Given the description of an element on the screen output the (x, y) to click on. 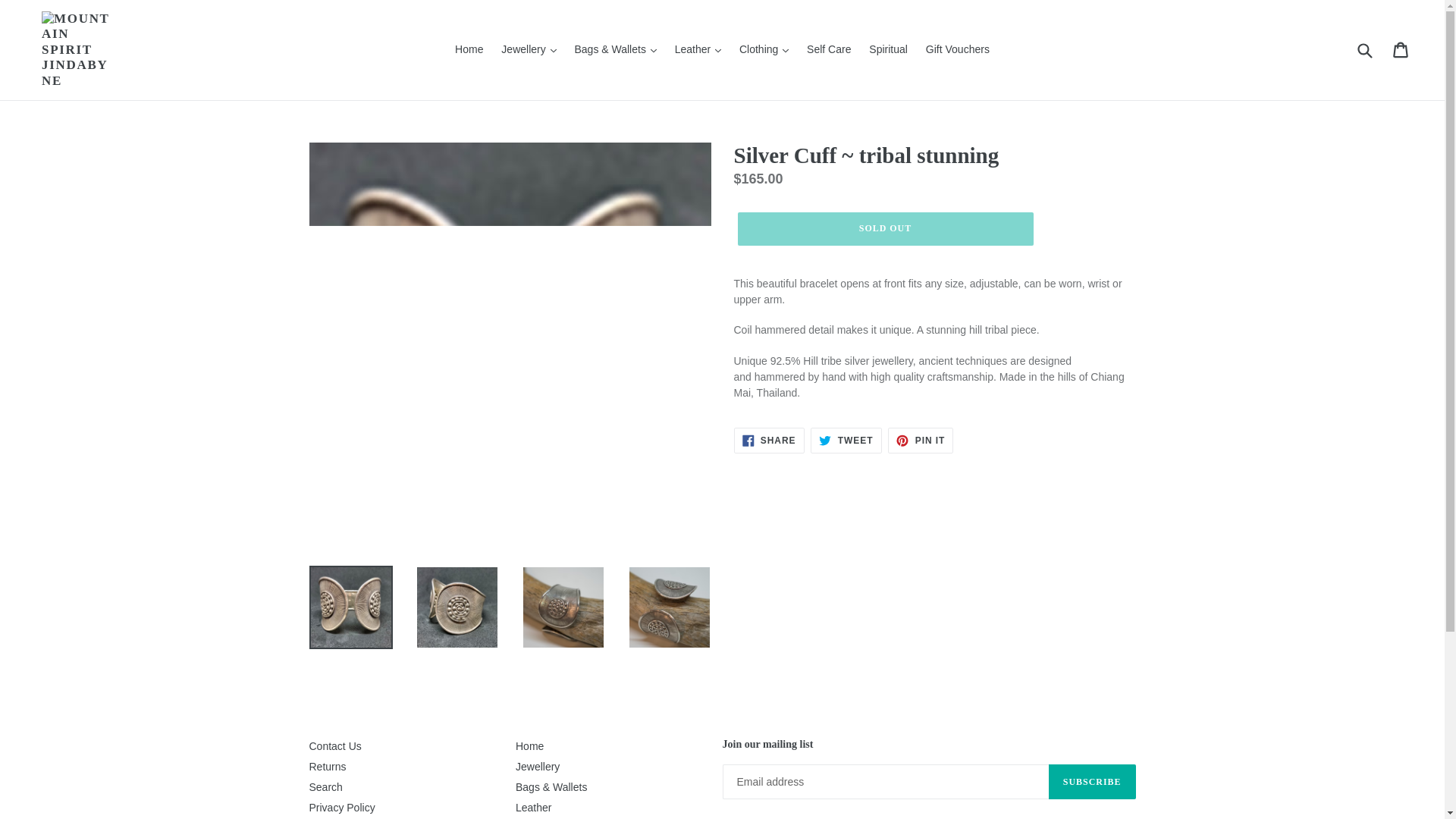
Share on Facebook (769, 440)
Tweet on Twitter (845, 440)
Pin on Pinterest (920, 440)
